Given the description of an element on the screen output the (x, y) to click on. 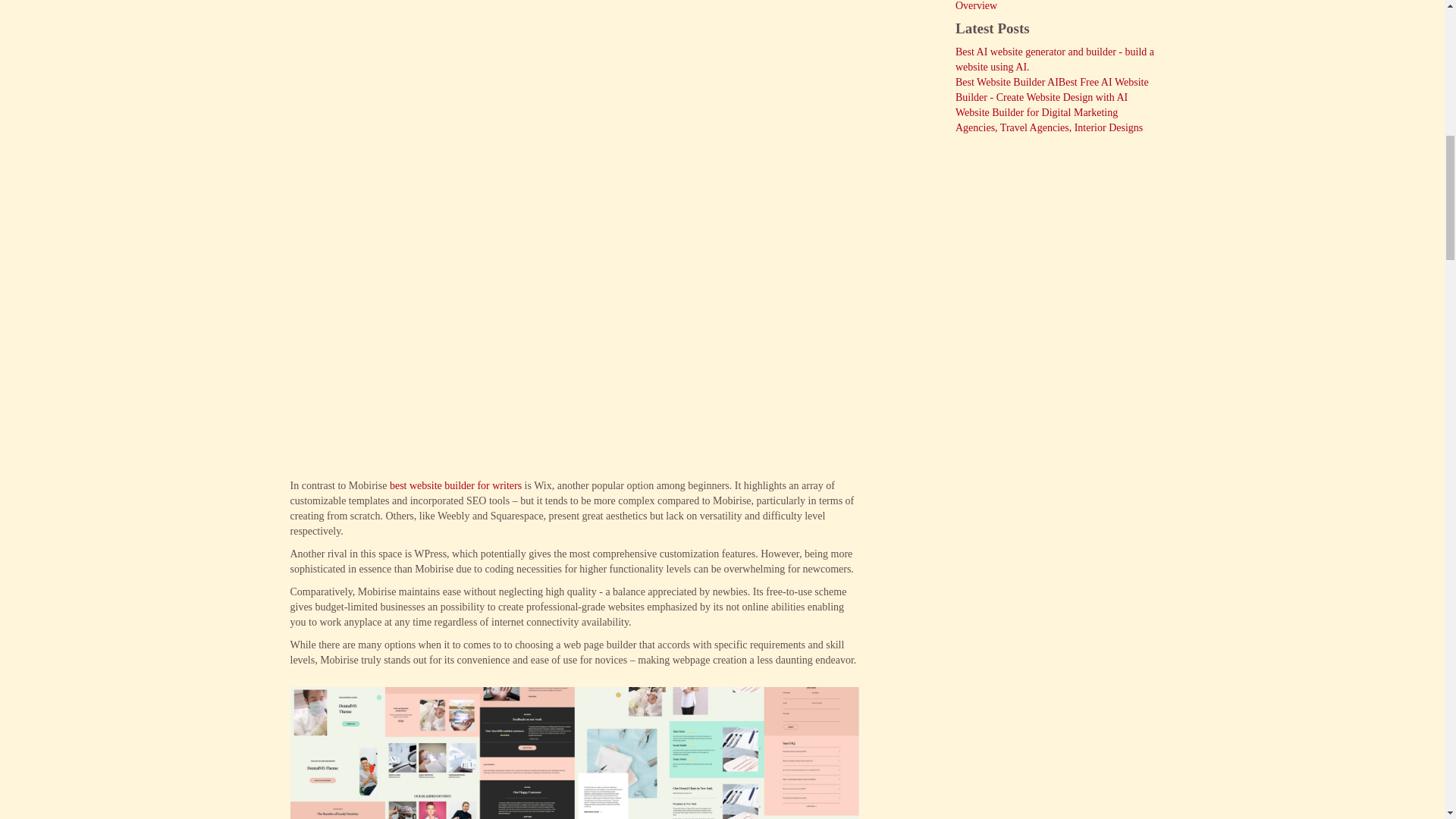
Very Uncomplicated Business Website Builder Overview (1054, 5)
best website builder for writers (455, 485)
